Given the description of an element on the screen output the (x, y) to click on. 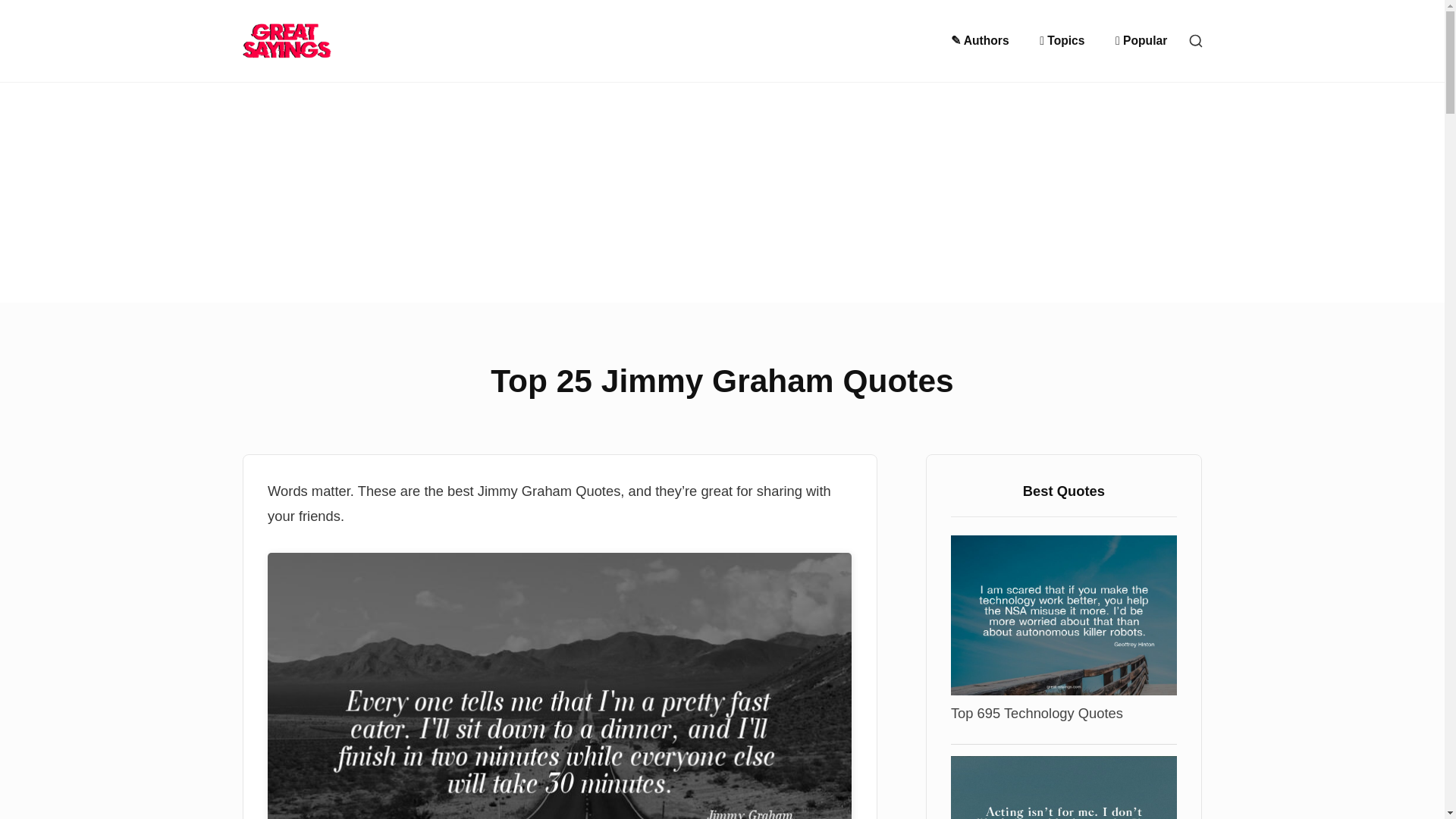
Top 695 Technology Quotes (1036, 713)
Top 695 Technology Quotes (1063, 613)
